Given the description of an element on the screen output the (x, y) to click on. 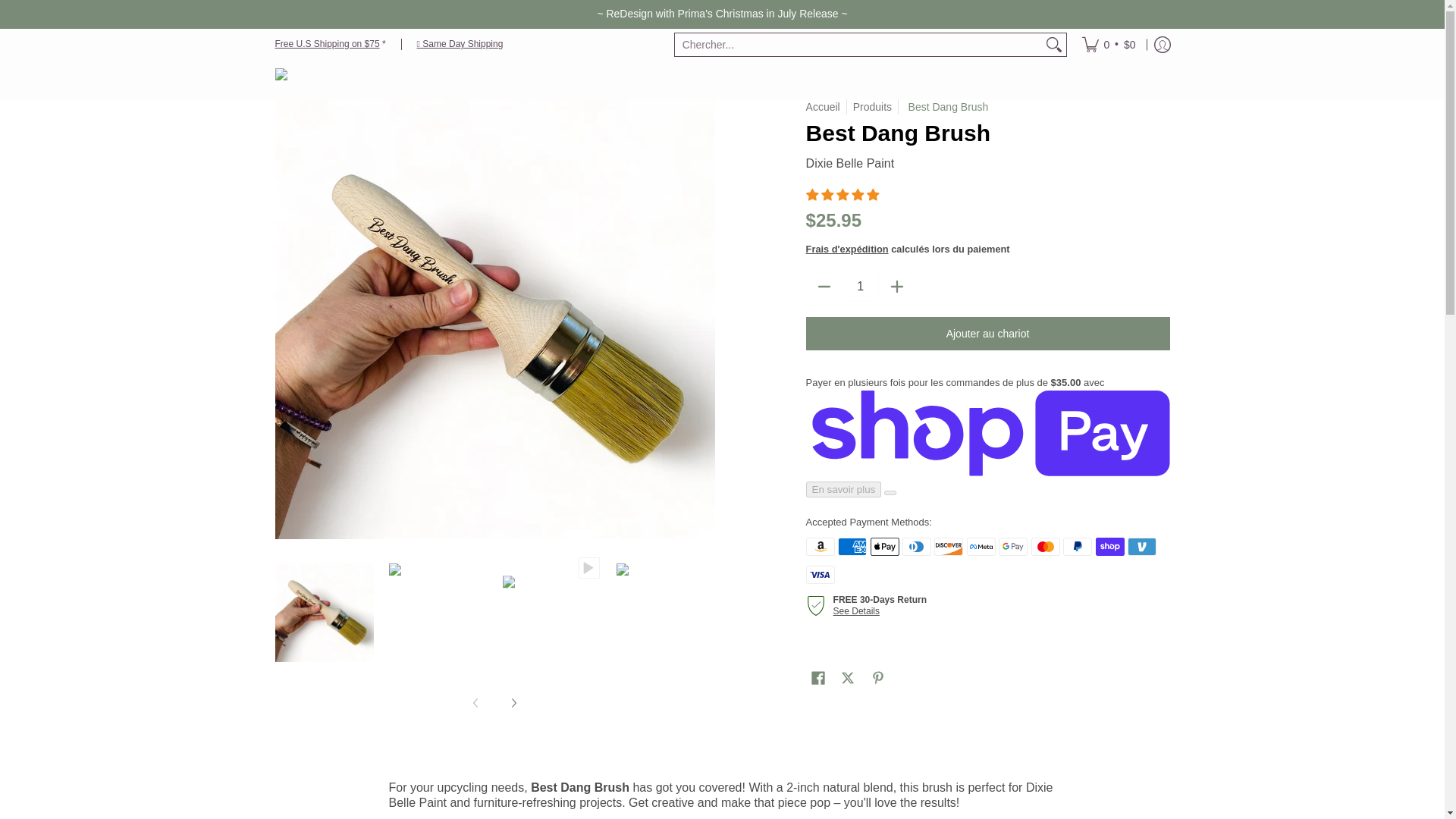
Apple Pay (884, 546)
Venmo (1141, 546)
1 (861, 286)
Amazon (820, 546)
Discover (948, 546)
Shop Pay (1110, 546)
Panier (1108, 43)
Diners Club (916, 546)
Google Pay (1012, 546)
Shipping Policy (459, 43)
Meta Pay (980, 546)
American Express (852, 546)
PayPal (1077, 546)
Mastercard (1044, 546)
Shipping Policy (326, 43)
